Given the description of an element on the screen output the (x, y) to click on. 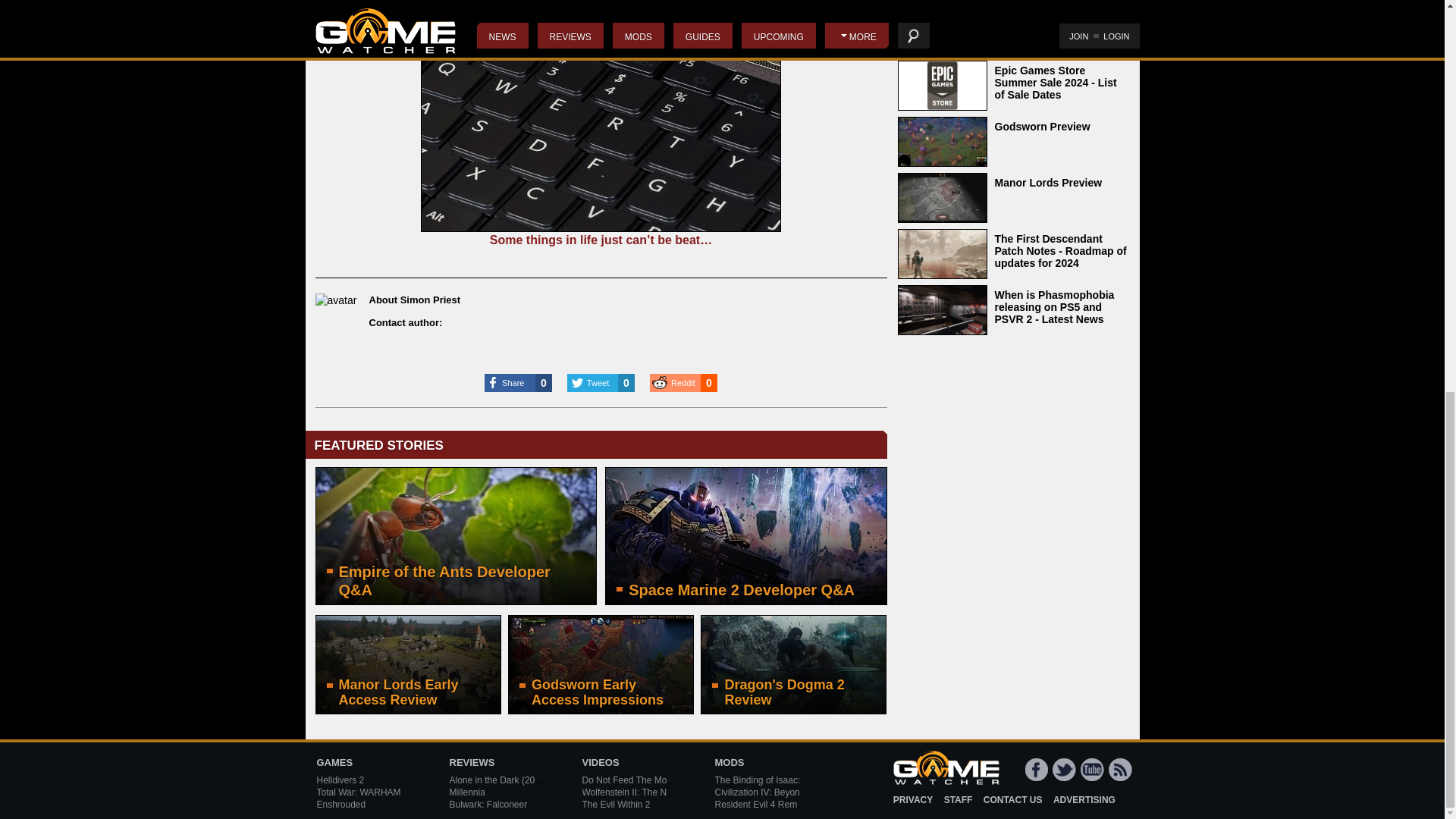
Godsworn Early Access Impressions (601, 664)
Manor Lords Early Access Review (407, 664)
Once Human Codes and Twitch Drops for July 2024 (1013, 26)
Dragon's Dogma 2 Review (793, 664)
